Given the description of an element on the screen output the (x, y) to click on. 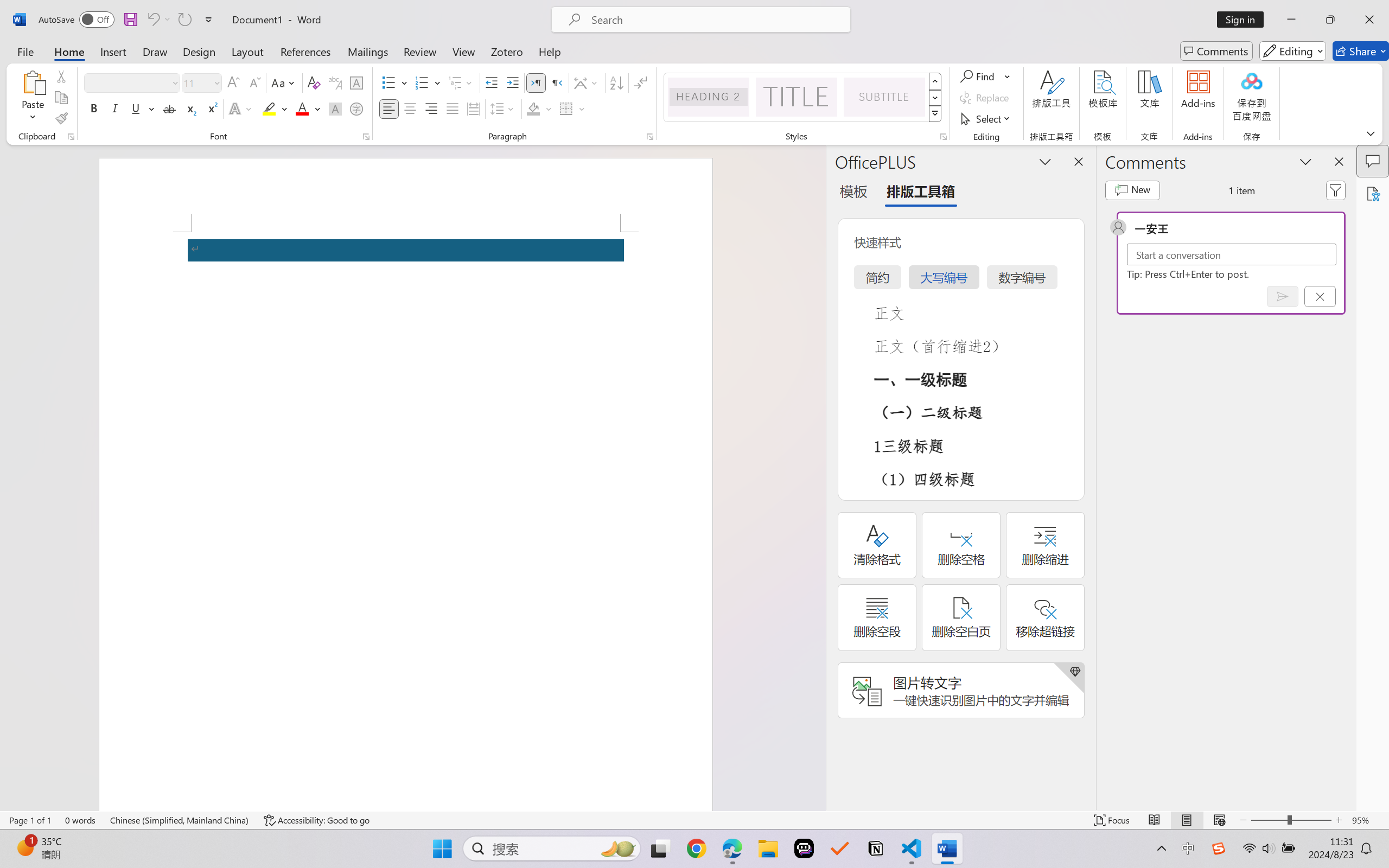
Language Chinese (Simplified, Mainland China) (179, 819)
